Given the description of an element on the screen output the (x, y) to click on. 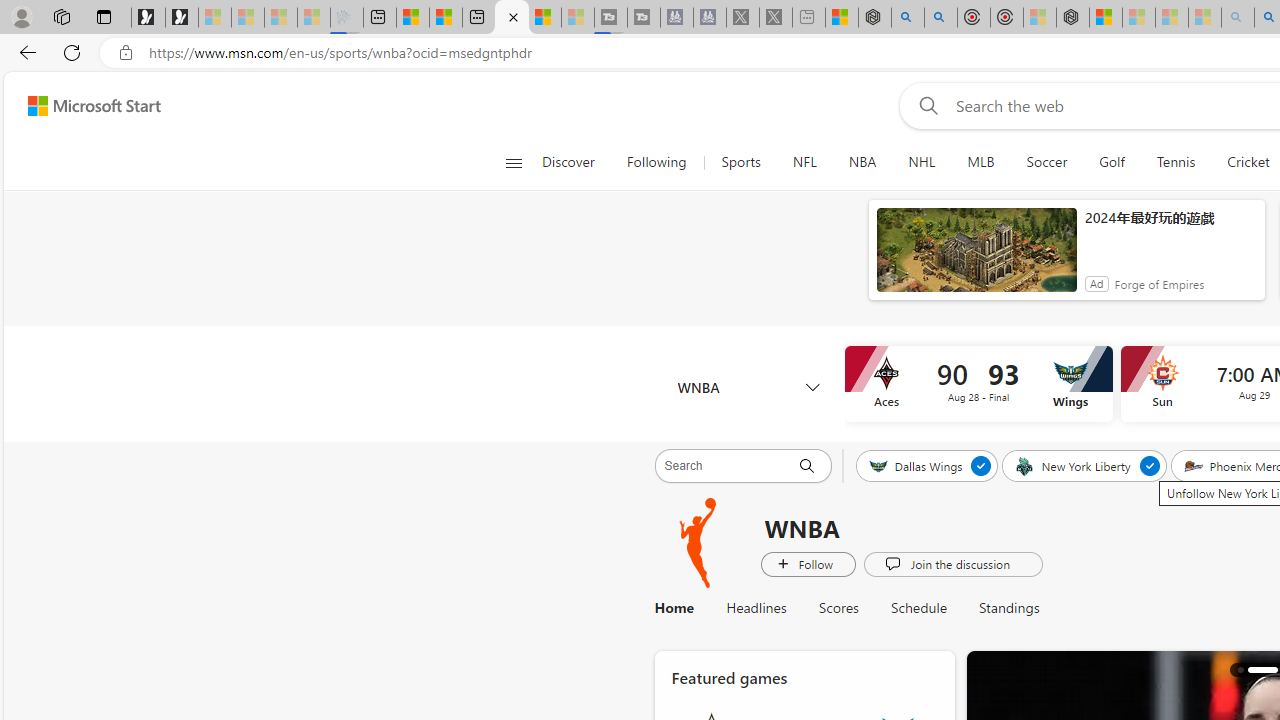
NFL (804, 162)
New York Liberty (1074, 465)
NHL (922, 162)
amazon - Search - Sleeping (1238, 17)
Home (682, 607)
Streaming Coverage | T3 - Sleeping (611, 17)
Golf (1112, 162)
anim-content (975, 258)
